Given the description of an element on the screen output the (x, y) to click on. 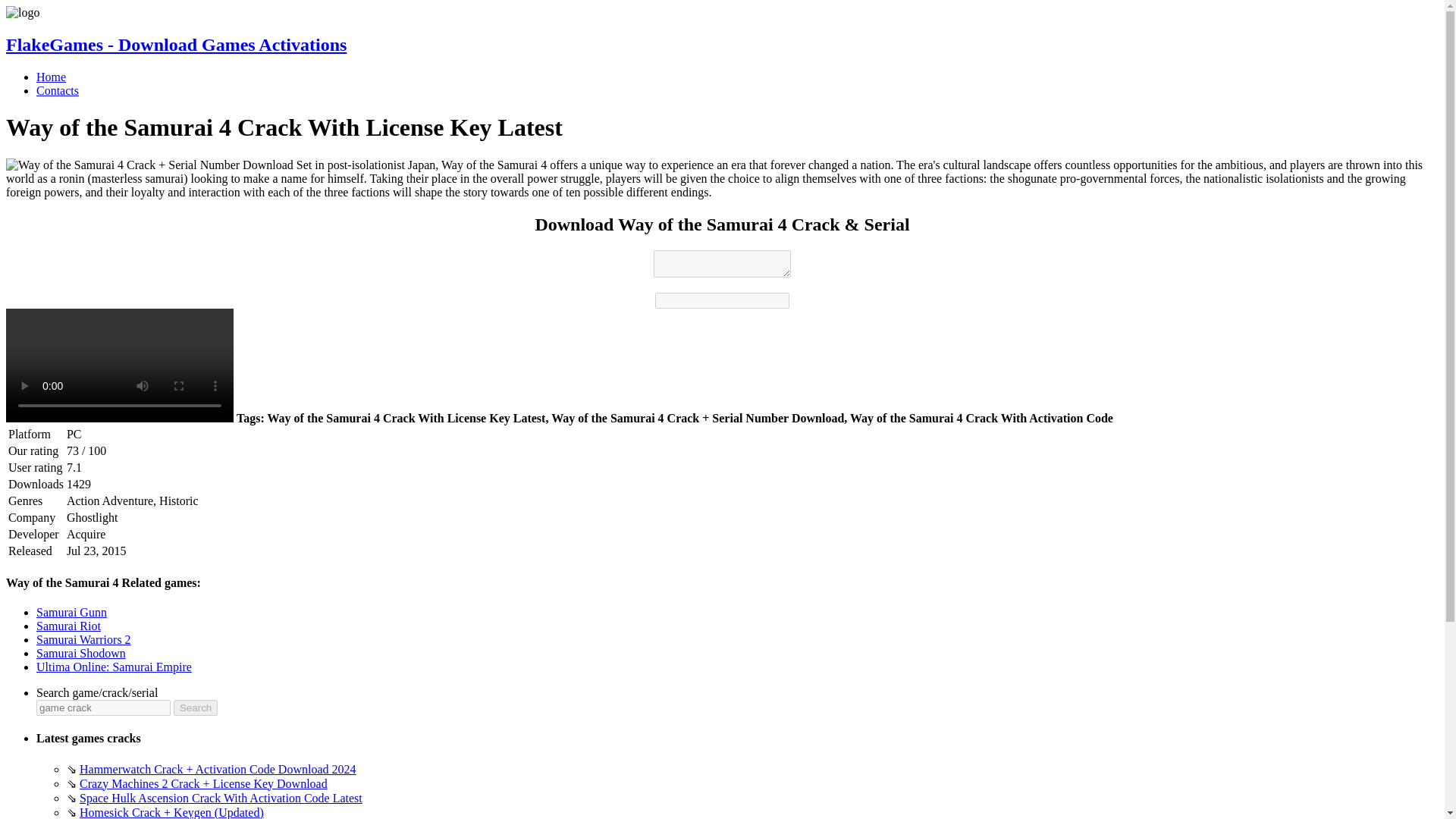
Samurai Riot (68, 625)
Contacts (57, 90)
Home (50, 76)
7.1 (73, 467)
Search (194, 707)
Space Hulk Ascension Crack With Activation Code Latest (221, 797)
Search (194, 707)
Ultima Online: Samurai Empire (114, 666)
Samurai Warriors 2 (83, 639)
Samurai Shodown (80, 653)
